Given the description of an element on the screen output the (x, y) to click on. 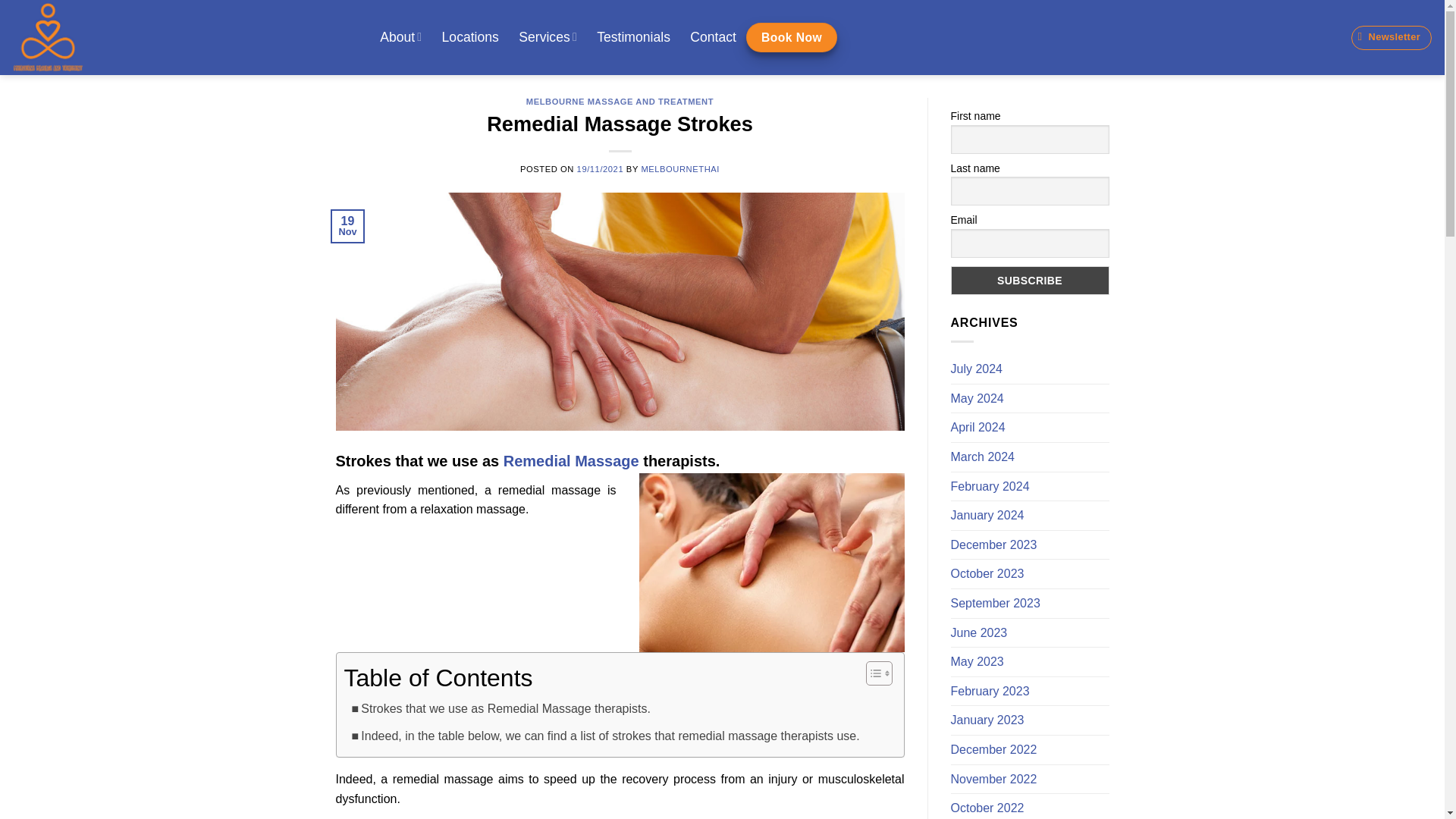
Remedial Massage (571, 460)
Testimonials (632, 37)
MELBOURNETHAI (679, 168)
Strokes that we use as Remedial Massage therapists. (498, 708)
Services (547, 36)
Book Now (791, 37)
Melbourne Massage and Treatment (179, 37)
Newsletter (1391, 37)
Contact (712, 37)
Locations (469, 37)
About (399, 36)
Strokes that we use as Remedial Massage therapists. (498, 708)
MELBOURNE MASSAGE AND TREATMENT (619, 101)
